Given the description of an element on the screen output the (x, y) to click on. 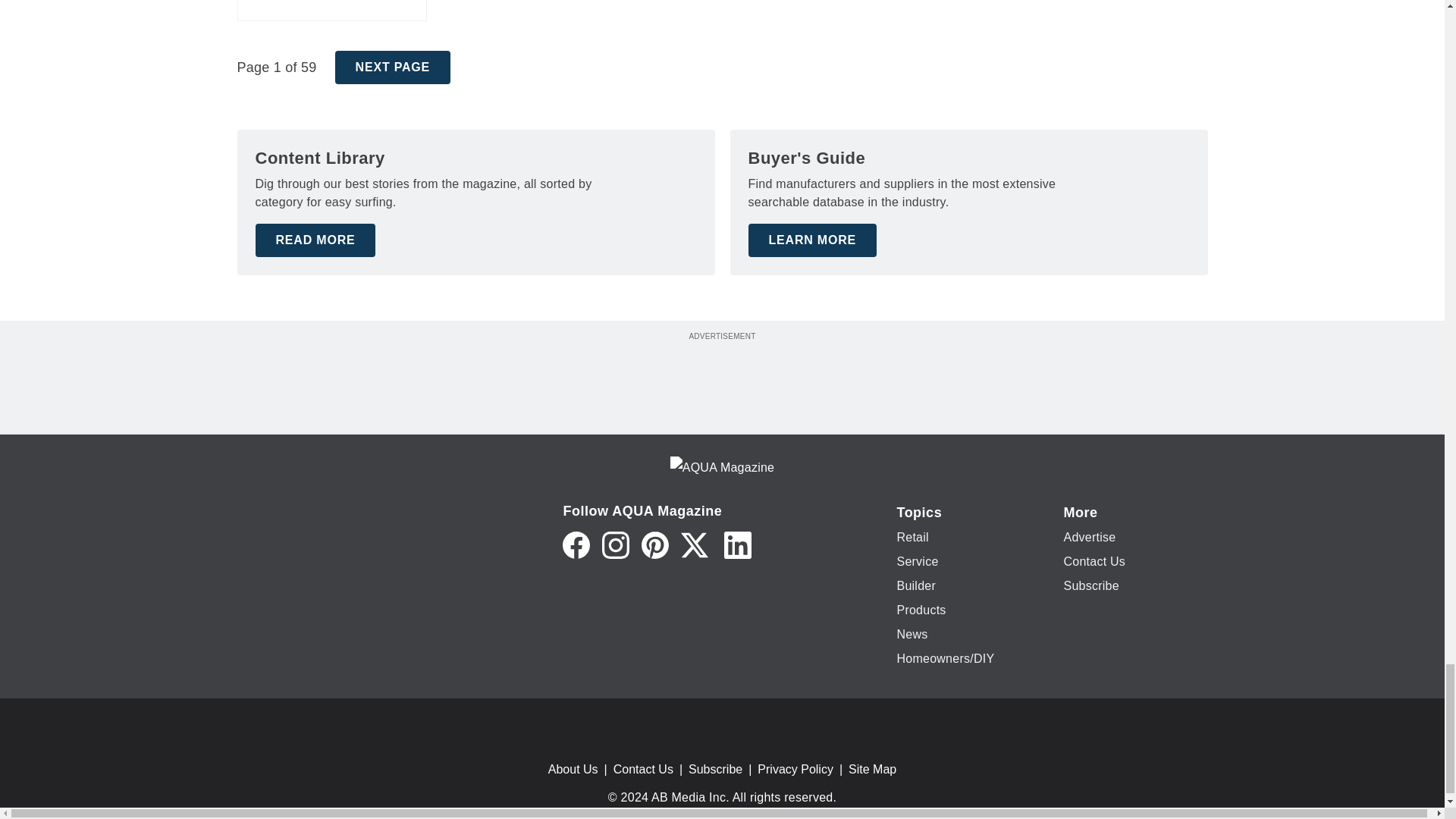
Instagram icon (615, 544)
Facebook icon (575, 544)
Twitter X icon (694, 544)
LinkedIn icon (737, 544)
Pinterest icon (655, 544)
